Given the description of an element on the screen output the (x, y) to click on. 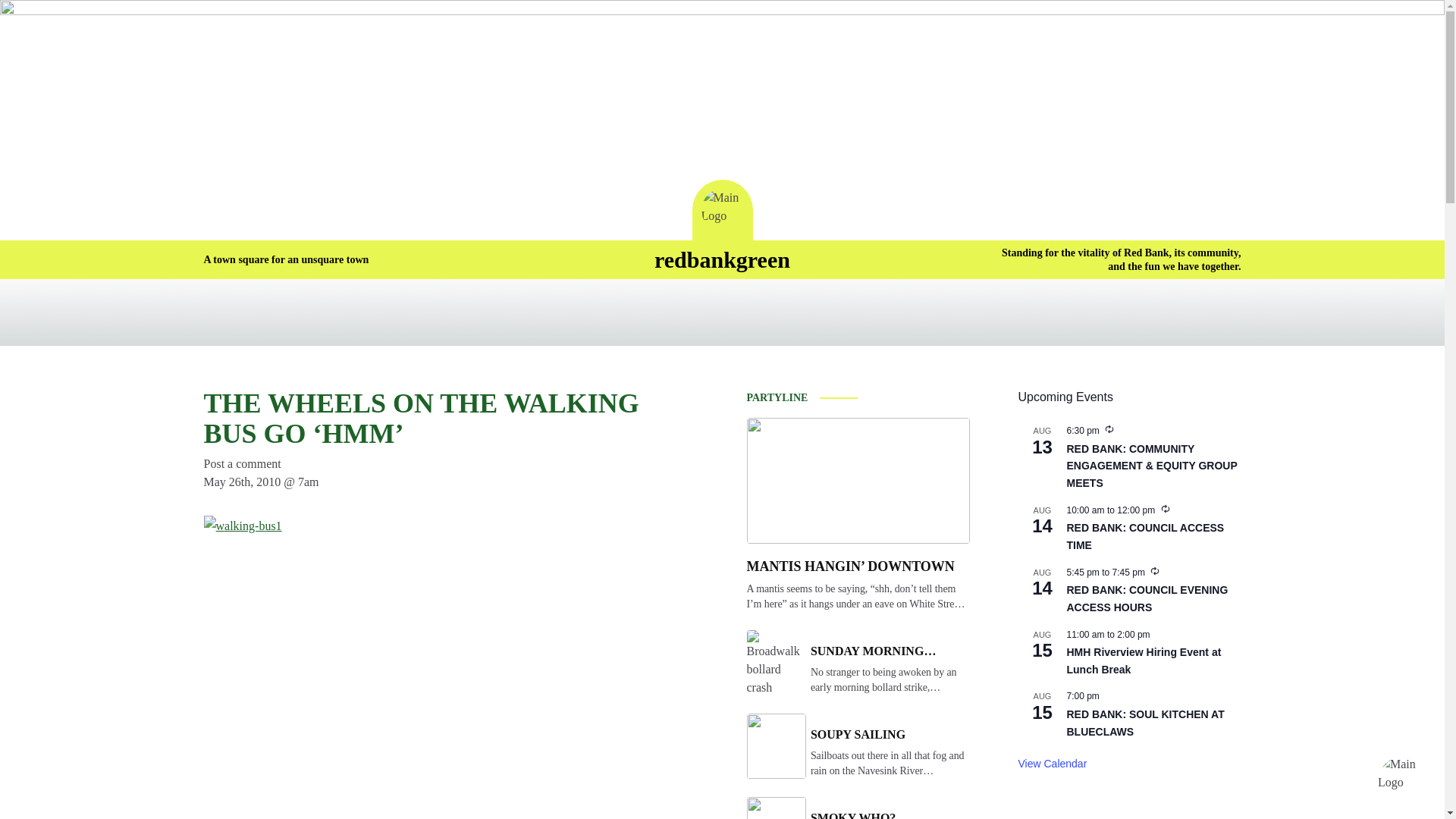
Recurring (1154, 570)
Post a comment (242, 463)
Recurring (1109, 429)
View more events. (1051, 763)
HMH Riverview Hiring Event at Lunch Break (1143, 661)
RED BANK: COUNCIL ACCESS TIME (1144, 536)
RED BANK: COUNCIL EVENING ACCESS HOURS (1146, 598)
Recurring (1165, 508)
walking-bus1 (392, 657)
